Given the description of an element on the screen output the (x, y) to click on. 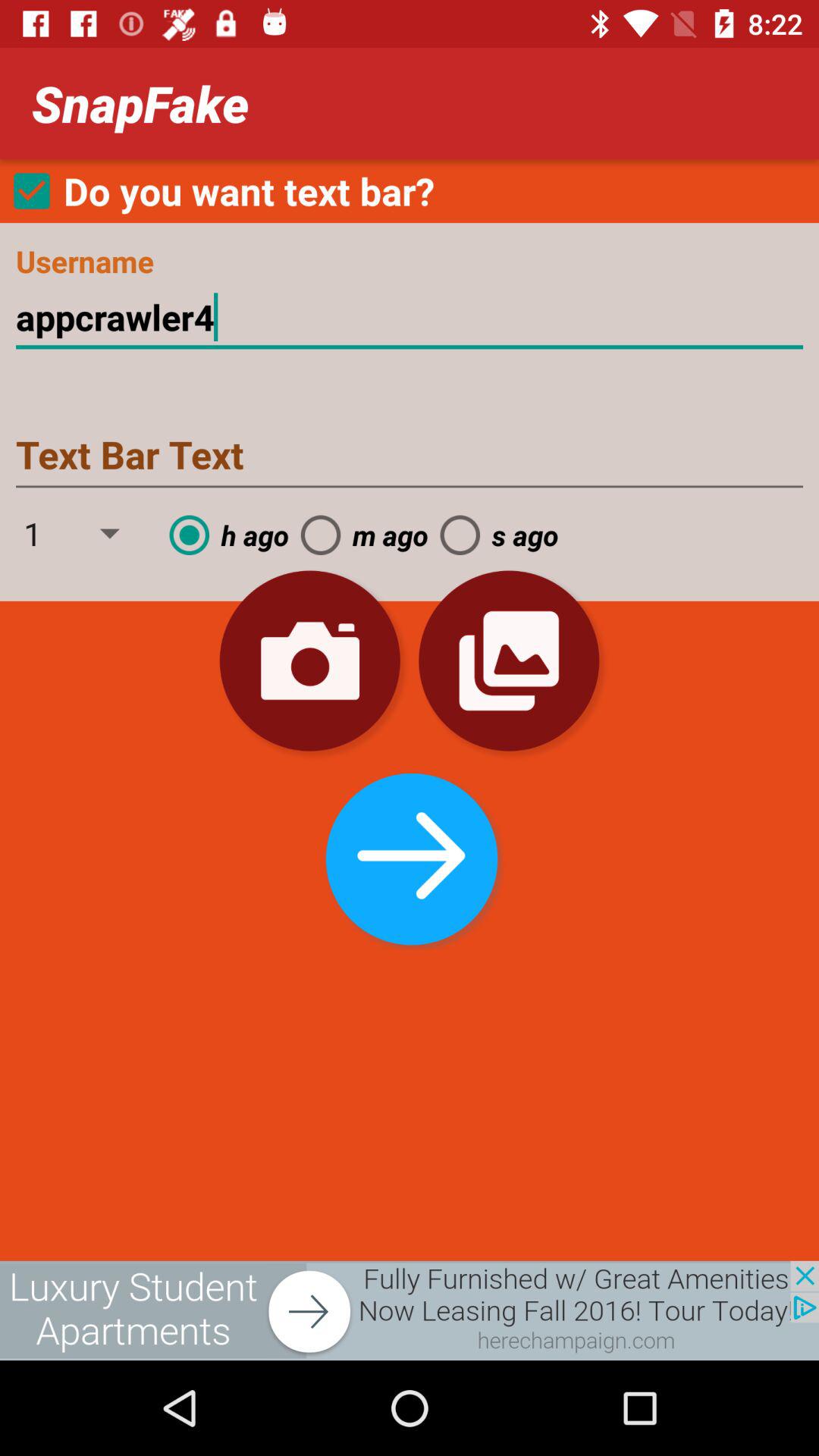
go to advertisement (409, 1310)
